Given the description of an element on the screen output the (x, y) to click on. 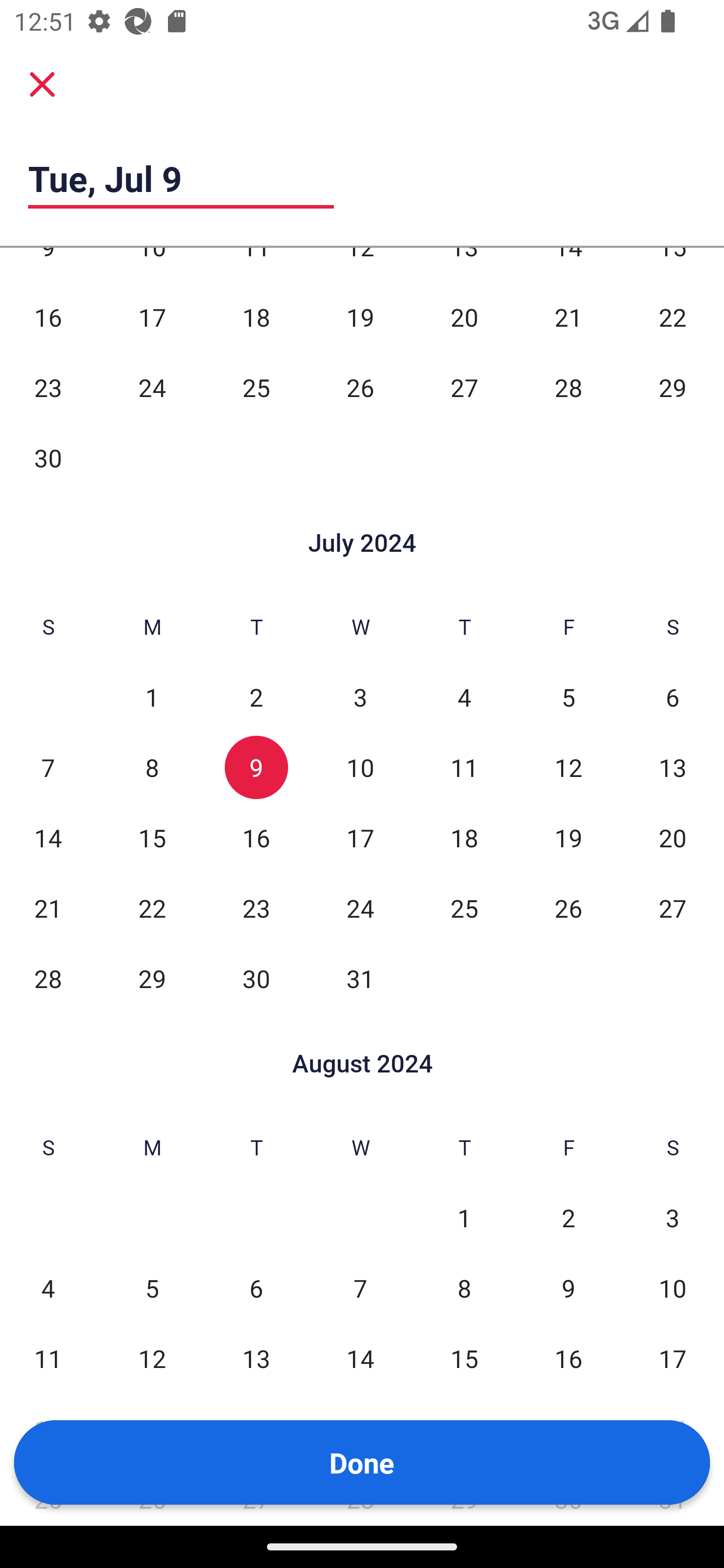
Cancel (42, 84)
Tue, Jul 9 (180, 178)
16 Sun, Jun 16, Not Selected (48, 317)
17 Mon, Jun 17, Not Selected (152, 317)
18 Tue, Jun 18, Not Selected (256, 317)
19 Wed, Jun 19, Not Selected (360, 317)
20 Thu, Jun 20, Not Selected (464, 317)
21 Fri, Jun 21, Not Selected (568, 317)
22 Sat, Jun 22, Not Selected (672, 317)
23 Sun, Jun 23, Not Selected (48, 387)
24 Mon, Jun 24, Not Selected (152, 387)
25 Tue, Jun 25, Not Selected (256, 387)
26 Wed, Jun 26, Not Selected (360, 387)
27 Thu, Jun 27, Not Selected (464, 387)
28 Fri, Jun 28, Not Selected (568, 387)
29 Sat, Jun 29, Not Selected (672, 387)
30 Sun, Jun 30, Not Selected (48, 457)
1 Mon, Jul 1, Not Selected (152, 696)
2 Tue, Jul 2, Not Selected (256, 696)
3 Wed, Jul 3, Not Selected (360, 696)
4 Thu, Jul 4, Not Selected (464, 696)
5 Fri, Jul 5, Not Selected (568, 696)
6 Sat, Jul 6, Not Selected (672, 696)
7 Sun, Jul 7, Not Selected (48, 767)
8 Mon, Jul 8, Not Selected (152, 767)
9 Tue, Jul 9, Selected (256, 767)
10 Wed, Jul 10, Not Selected (360, 767)
11 Thu, Jul 11, Not Selected (464, 767)
12 Fri, Jul 12, Not Selected (568, 767)
13 Sat, Jul 13, Not Selected (672, 767)
14 Sun, Jul 14, Not Selected (48, 837)
15 Mon, Jul 15, Not Selected (152, 837)
16 Tue, Jul 16, Not Selected (256, 837)
17 Wed, Jul 17, Not Selected (360, 837)
18 Thu, Jul 18, Not Selected (464, 837)
19 Fri, Jul 19, Not Selected (568, 837)
20 Sat, Jul 20, Not Selected (672, 837)
21 Sun, Jul 21, Not Selected (48, 908)
22 Mon, Jul 22, Not Selected (152, 908)
23 Tue, Jul 23, Not Selected (256, 908)
24 Wed, Jul 24, Not Selected (360, 908)
25 Thu, Jul 25, Not Selected (464, 908)
26 Fri, Jul 26, Not Selected (568, 908)
27 Sat, Jul 27, Not Selected (672, 908)
28 Sun, Jul 28, Not Selected (48, 977)
29 Mon, Jul 29, Not Selected (152, 977)
30 Tue, Jul 30, Not Selected (256, 977)
31 Wed, Jul 31, Not Selected (360, 977)
1 Thu, Aug 1, Not Selected (464, 1217)
2 Fri, Aug 2, Not Selected (568, 1217)
3 Sat, Aug 3, Not Selected (672, 1217)
4 Sun, Aug 4, Not Selected (48, 1287)
5 Mon, Aug 5, Not Selected (152, 1287)
6 Tue, Aug 6, Not Selected (256, 1287)
7 Wed, Aug 7, Not Selected (360, 1287)
8 Thu, Aug 8, Not Selected (464, 1287)
9 Fri, Aug 9, Not Selected (568, 1287)
10 Sat, Aug 10, Not Selected (672, 1287)
11 Sun, Aug 11, Not Selected (48, 1358)
12 Mon, Aug 12, Not Selected (152, 1358)
13 Tue, Aug 13, Not Selected (256, 1358)
14 Wed, Aug 14, Not Selected (360, 1358)
15 Thu, Aug 15, Not Selected (464, 1358)
16 Fri, Aug 16, Not Selected (568, 1358)
17 Sat, Aug 17, Not Selected (672, 1358)
